Given the description of an element on the screen output the (x, y) to click on. 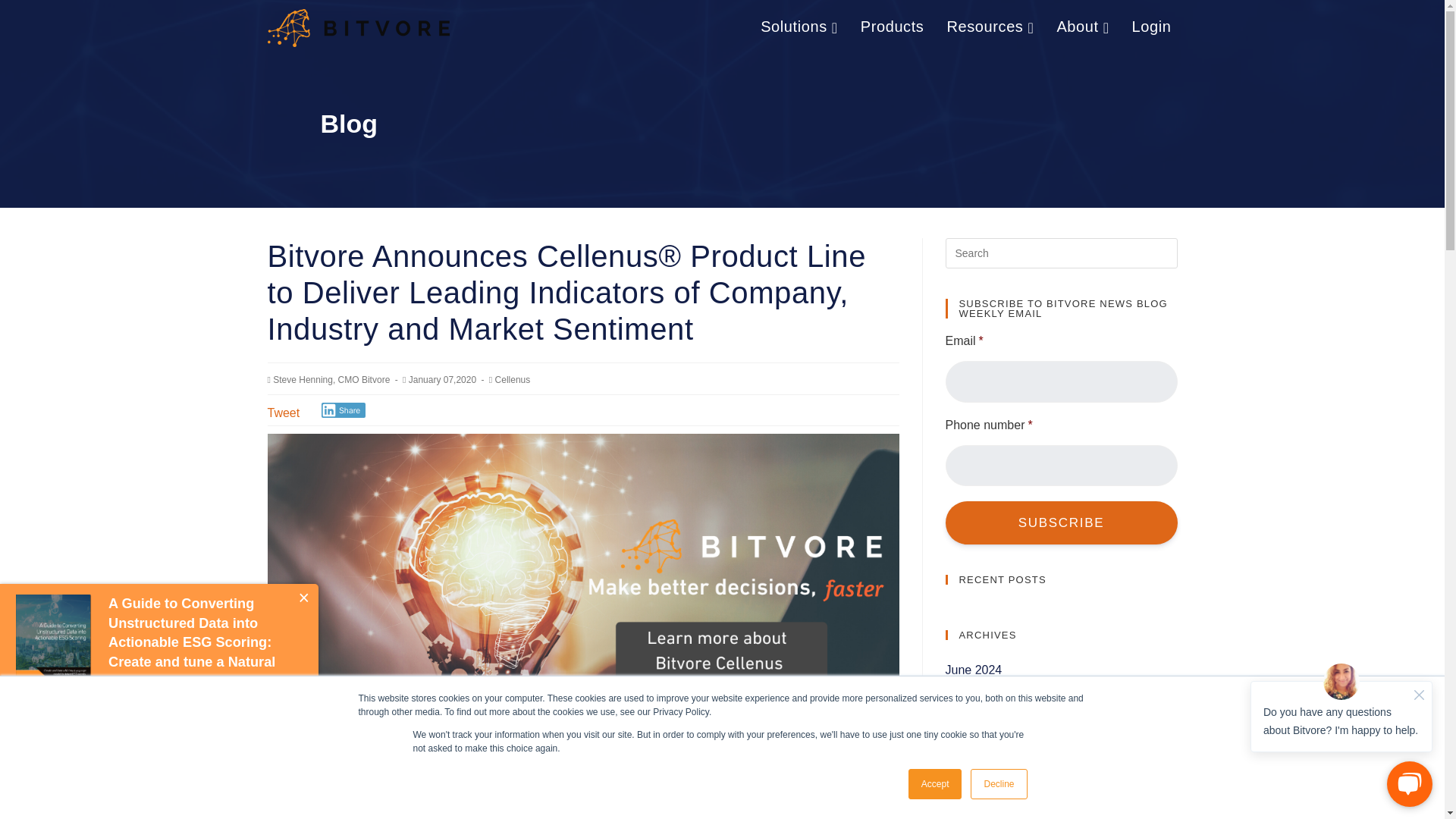
Accept (935, 784)
Resources (989, 27)
Subscribe (1060, 522)
Solutions (799, 27)
About (1082, 27)
Login (1152, 26)
Products (892, 26)
Decline (998, 784)
